Given the description of an element on the screen output the (x, y) to click on. 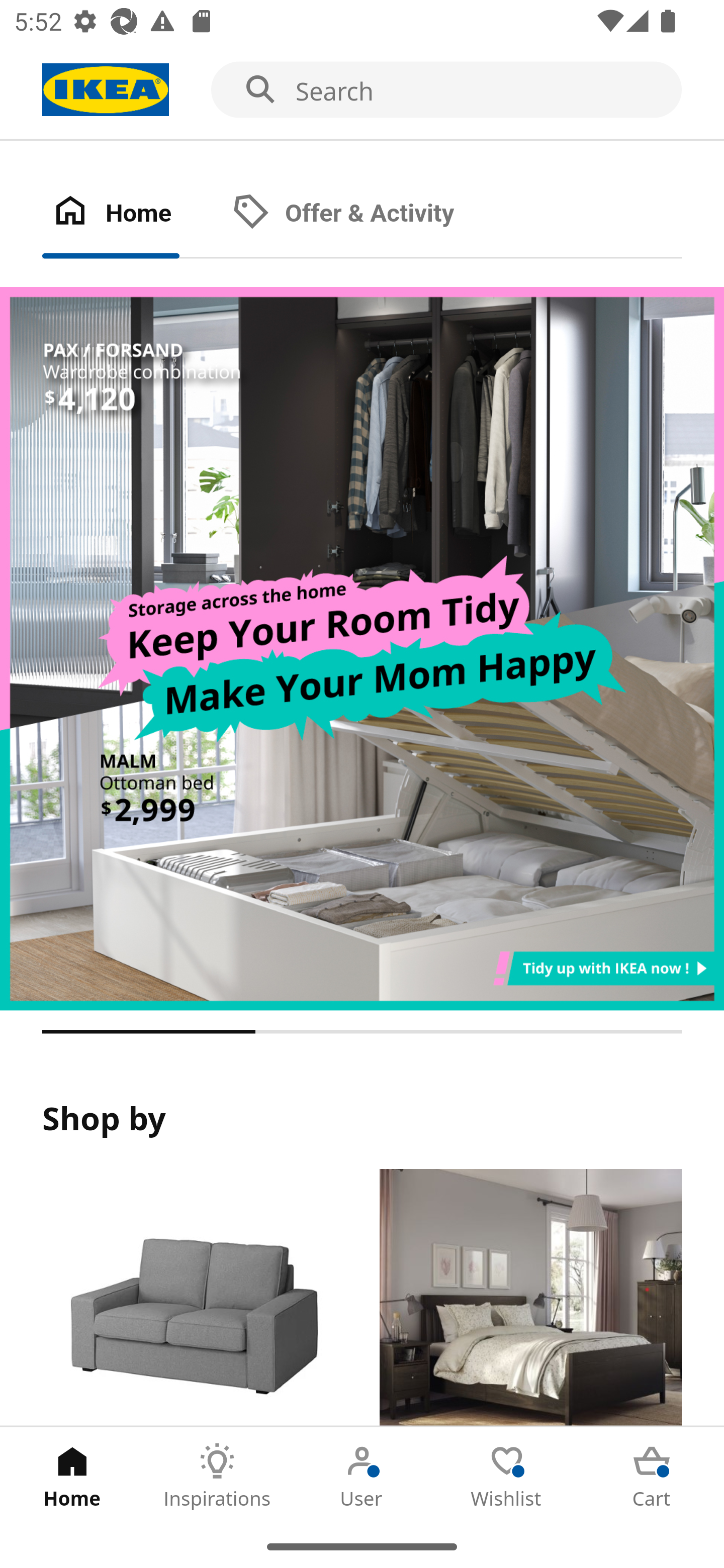
Search (361, 90)
Home
Tab 1 of 2 (131, 213)
Offer & Activity
Tab 2 of 2 (363, 213)
Products (192, 1297)
Rooms (530, 1297)
Home
Tab 1 of 5 (72, 1476)
Inspirations
Tab 2 of 5 (216, 1476)
User
Tab 3 of 5 (361, 1476)
Wishlist
Tab 4 of 5 (506, 1476)
Cart
Tab 5 of 5 (651, 1476)
